Given the description of an element on the screen output the (x, y) to click on. 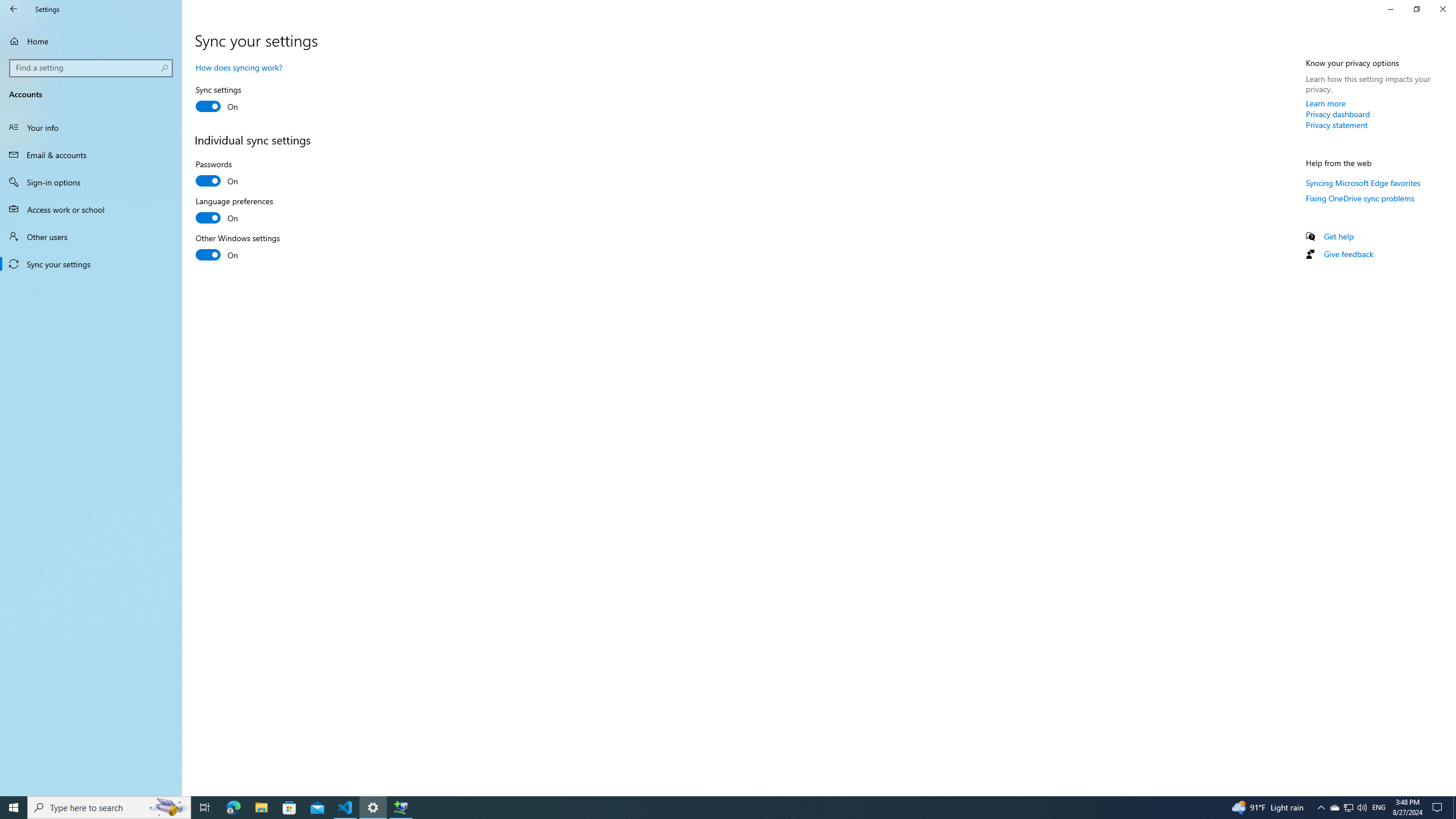
Search box, Find a setting (91, 67)
Passwords (237, 174)
Minimize Settings (1390, 9)
Get help (1338, 235)
File Explorer (261, 807)
Other Windows settings (238, 247)
Extensible Wizards Host Process - 1 running window (400, 807)
Microsoft Edge (233, 807)
Privacy statement (1347, 807)
Restore Settings (1336, 124)
Search highlights icon opens search home window (1416, 9)
Language preferences (167, 807)
Sign-in options (237, 210)
Visual Studio Code - 1 running window (91, 181)
